Given the description of an element on the screen output the (x, y) to click on. 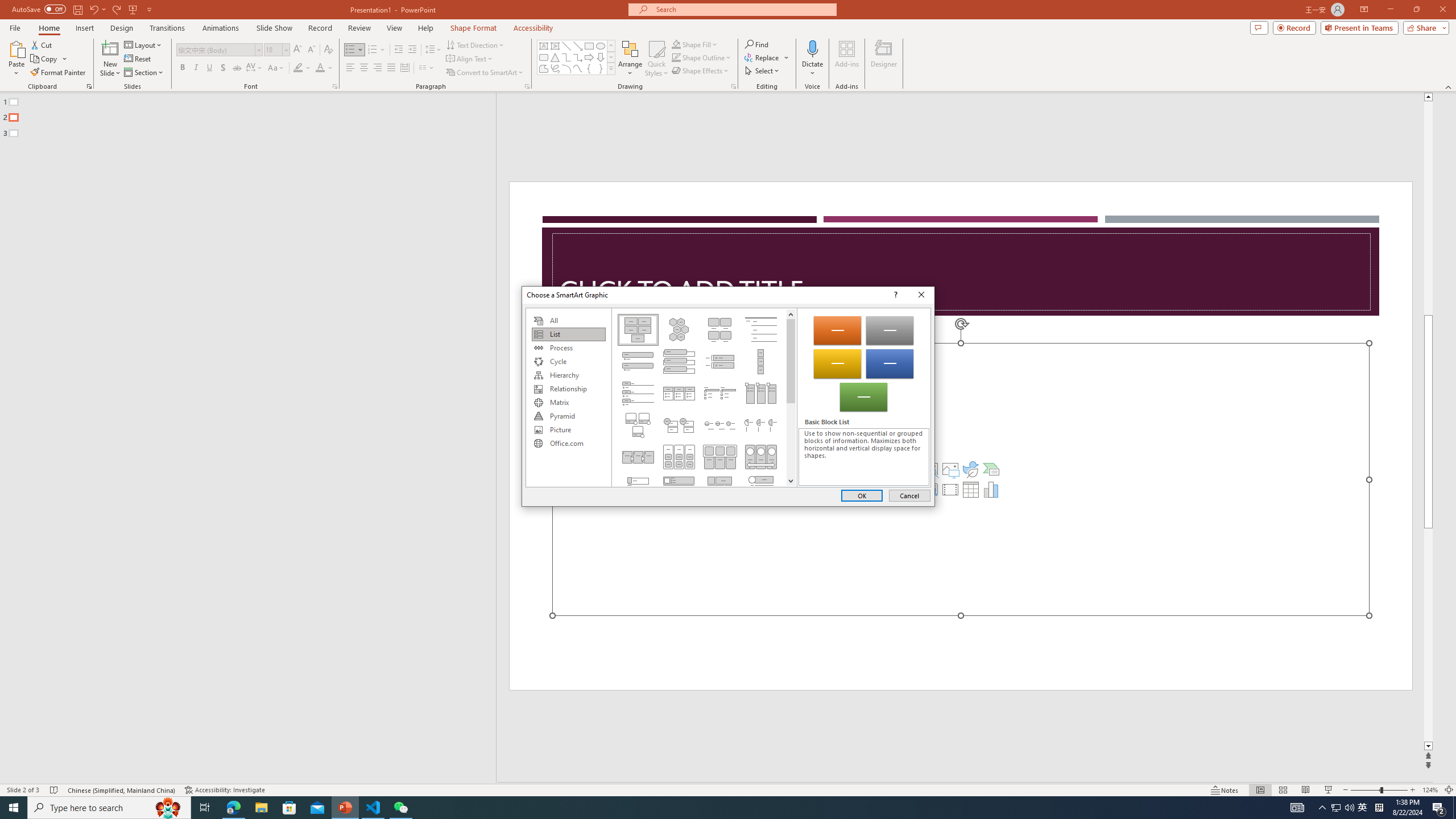
Justify (390, 67)
Curve (577, 68)
Isosceles Triangle (554, 57)
AutoSave (38, 9)
Ribbon Display Options (1364, 9)
Spell Check No Errors (54, 790)
Numbering (376, 49)
Normal (1260, 790)
Search highlights icon opens search home window (167, 807)
Tab List (637, 393)
Row Down (611, 56)
Line down (790, 480)
Animations (220, 28)
